Given the description of an element on the screen output the (x, y) to click on. 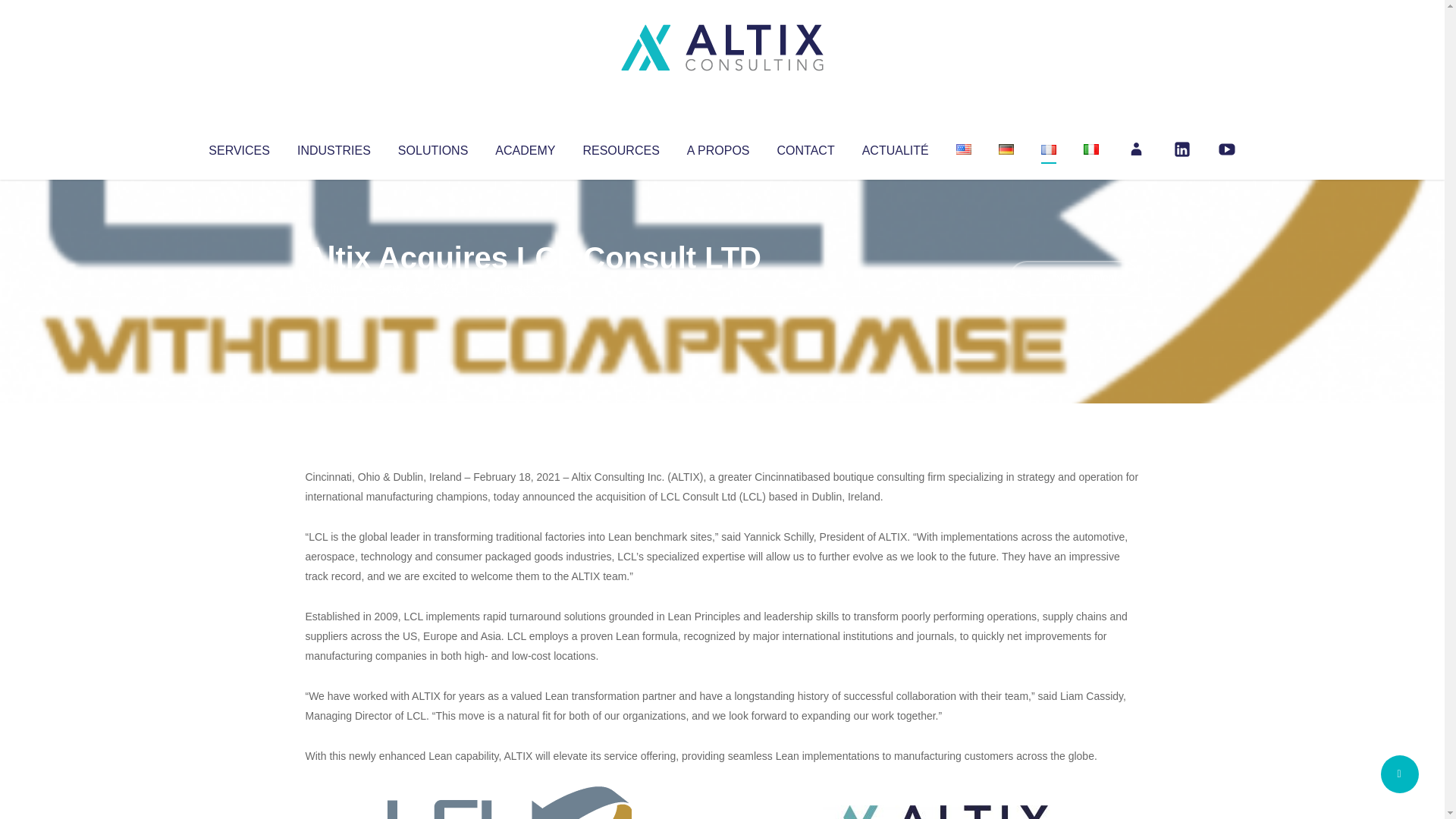
ACADEMY (524, 146)
SERVICES (238, 146)
SOLUTIONS (432, 146)
Altix (333, 287)
INDUSTRIES (334, 146)
Articles par Altix (333, 287)
Uncategorized (530, 287)
No Comments (1073, 278)
A PROPOS (718, 146)
RESOURCES (620, 146)
